Given the description of an element on the screen output the (x, y) to click on. 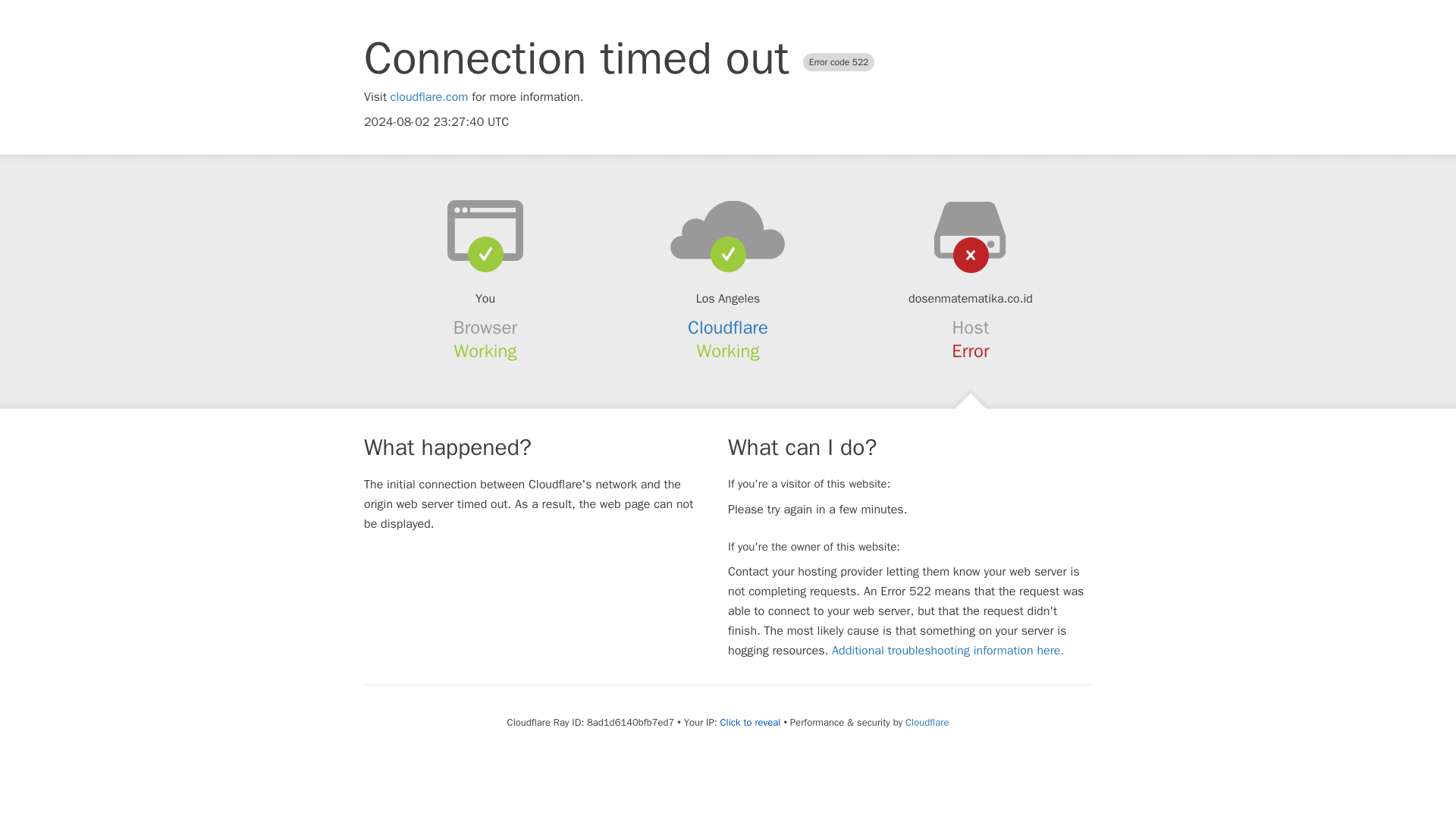
cloudflare.com (429, 96)
Additional troubleshooting information here. (947, 650)
Cloudflare (727, 327)
Click to reveal (750, 722)
Cloudflare (927, 721)
